Given the description of an element on the screen output the (x, y) to click on. 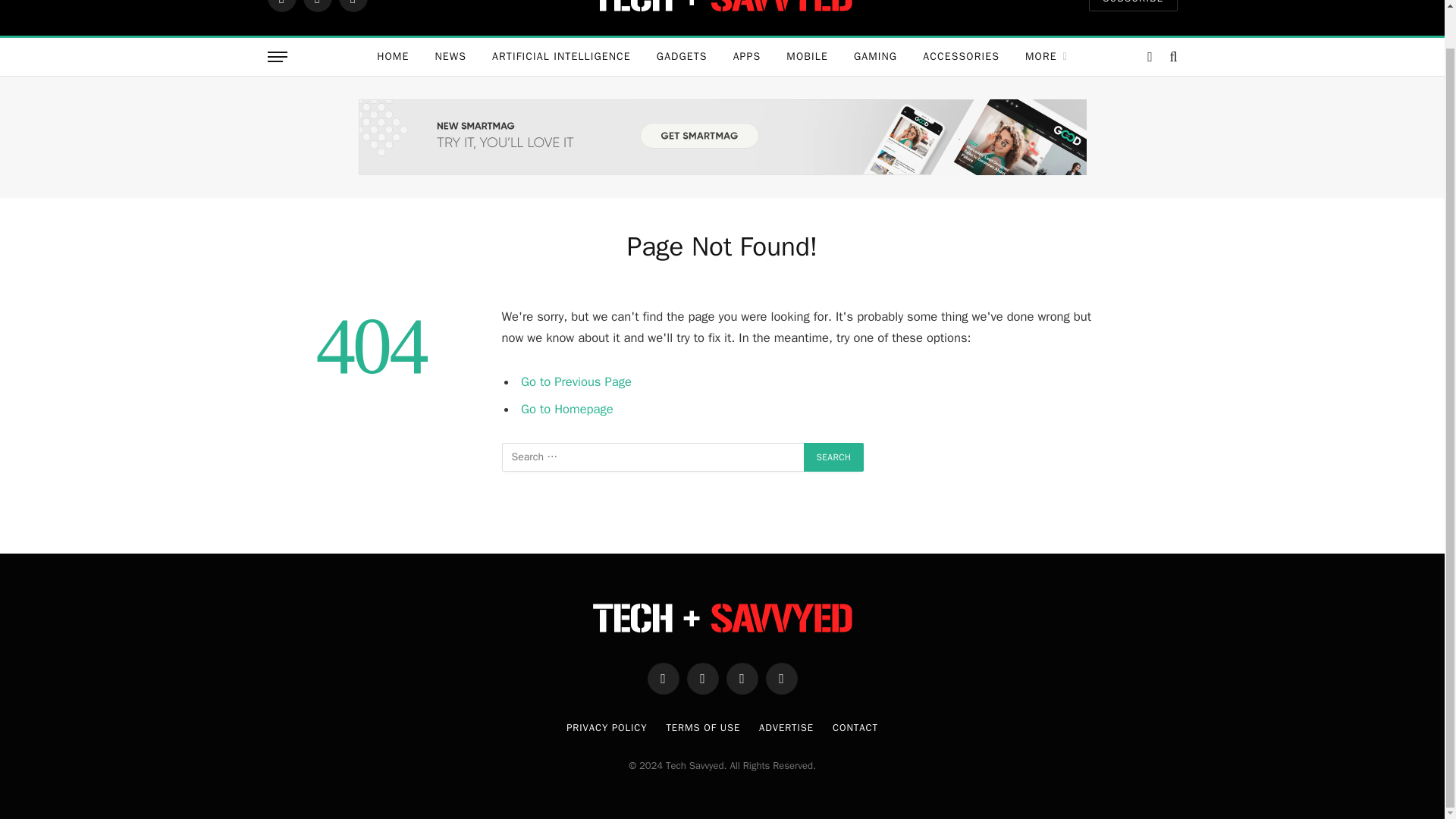
APPS (747, 56)
ACCESSORIES (960, 56)
Facebook (280, 6)
GAMING (875, 56)
SUBSCRIBE (1132, 5)
Search (833, 457)
HOME (393, 56)
ARTIFICIAL INTELLIGENCE (561, 56)
Search (833, 457)
MORE (1045, 56)
GADGETS (681, 56)
Switch to Dark Design - easier on eyes. (1149, 56)
Tech Savvyed (722, 12)
MOBILE (807, 56)
NEWS (450, 56)
